Given the description of an element on the screen output the (x, y) to click on. 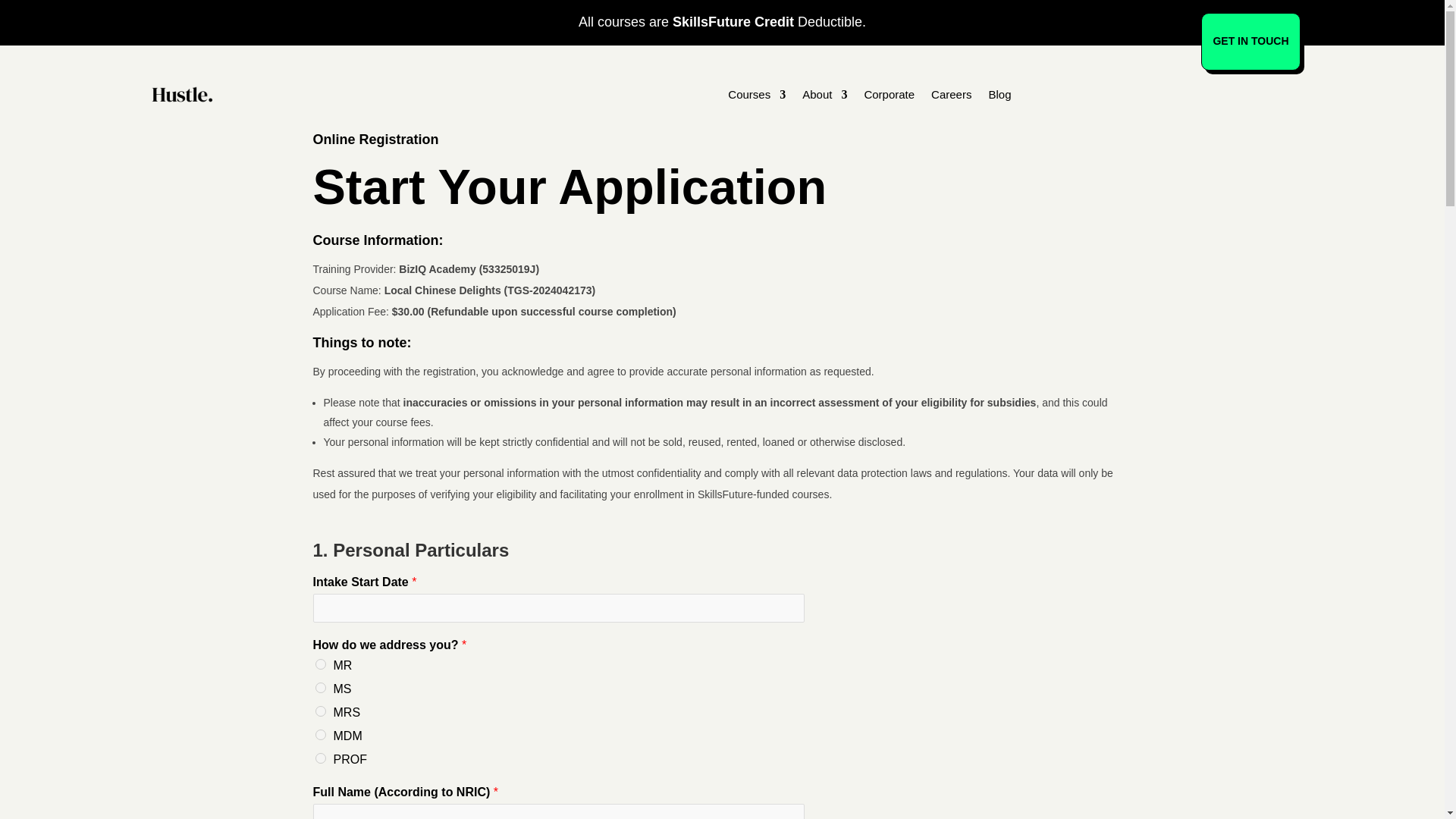
Courses (757, 94)
Corporate (888, 94)
About (824, 94)
MDM (320, 734)
MRS (320, 710)
PROF (320, 757)
MS (320, 687)
Blog (999, 94)
Careers (951, 94)
MR (320, 664)
